Given the description of an element on the screen output the (x, y) to click on. 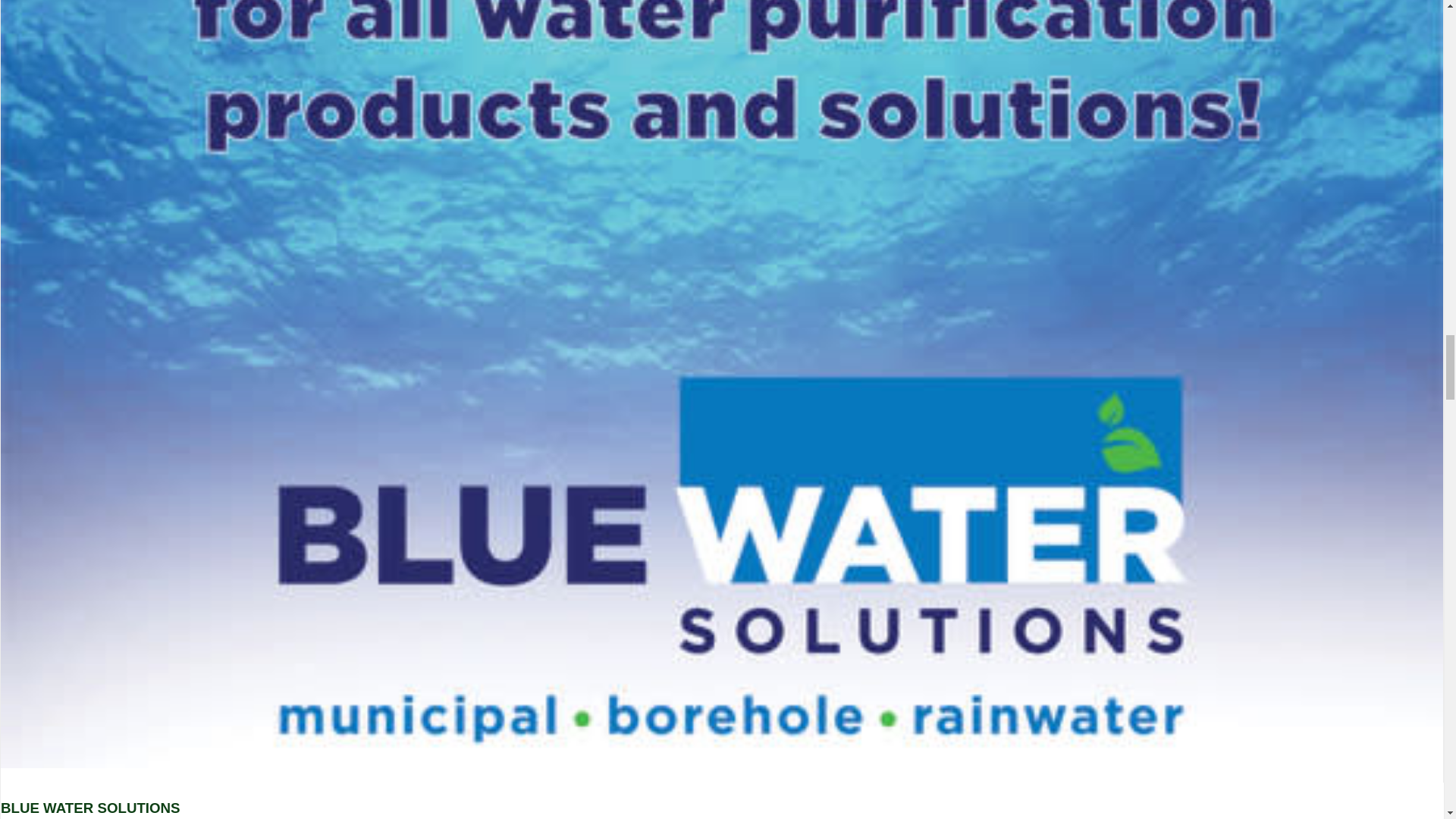
BLUE WATER SOLUTIONS (90, 807)
